Given the description of an element on the screen output the (x, y) to click on. 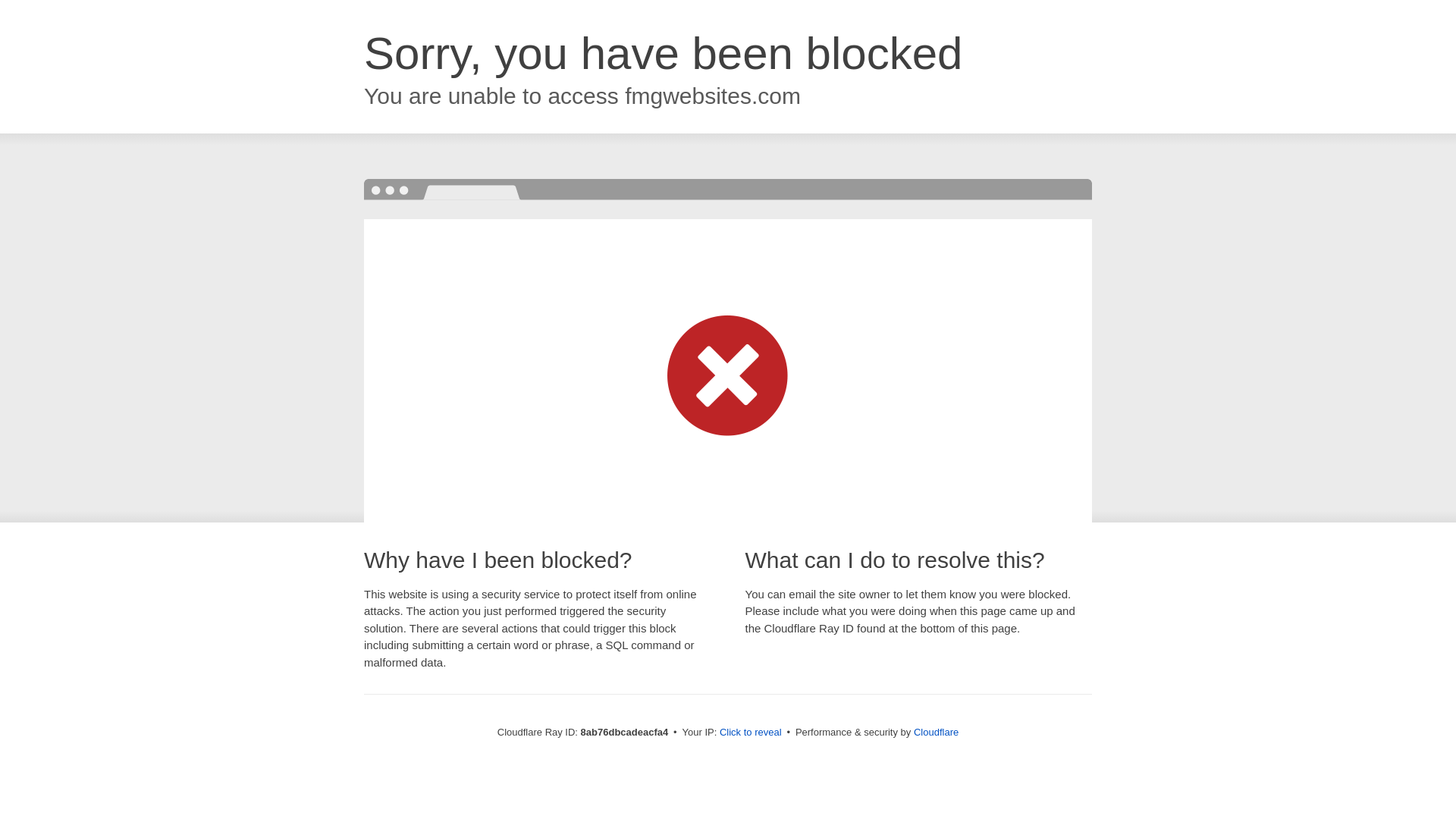
Click to reveal (750, 732)
Cloudflare (936, 731)
